Given the description of an element on the screen output the (x, y) to click on. 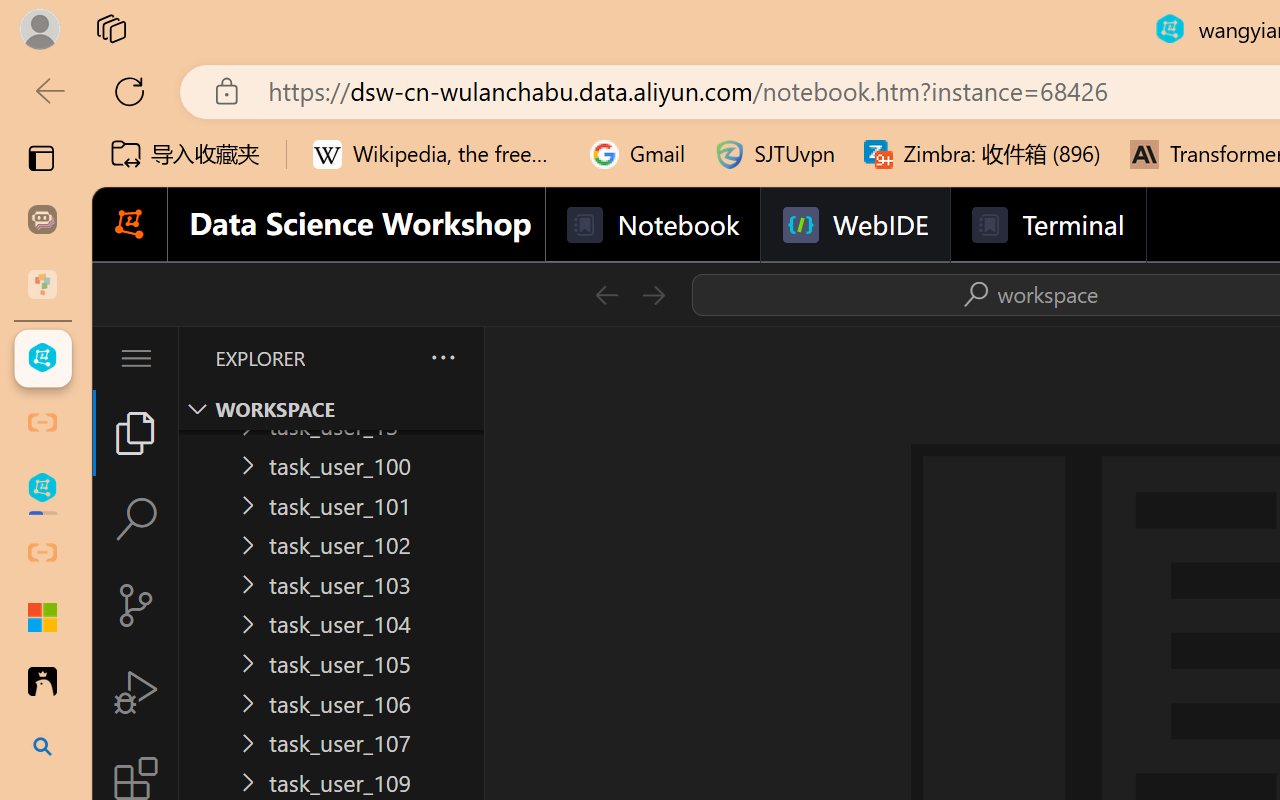
Wikipedia, the free encyclopedia (437, 154)
Class: actions-container (1027, 294)
Search (Ctrl+Shift+F) (135, 519)
